Given the description of an element on the screen output the (x, y) to click on. 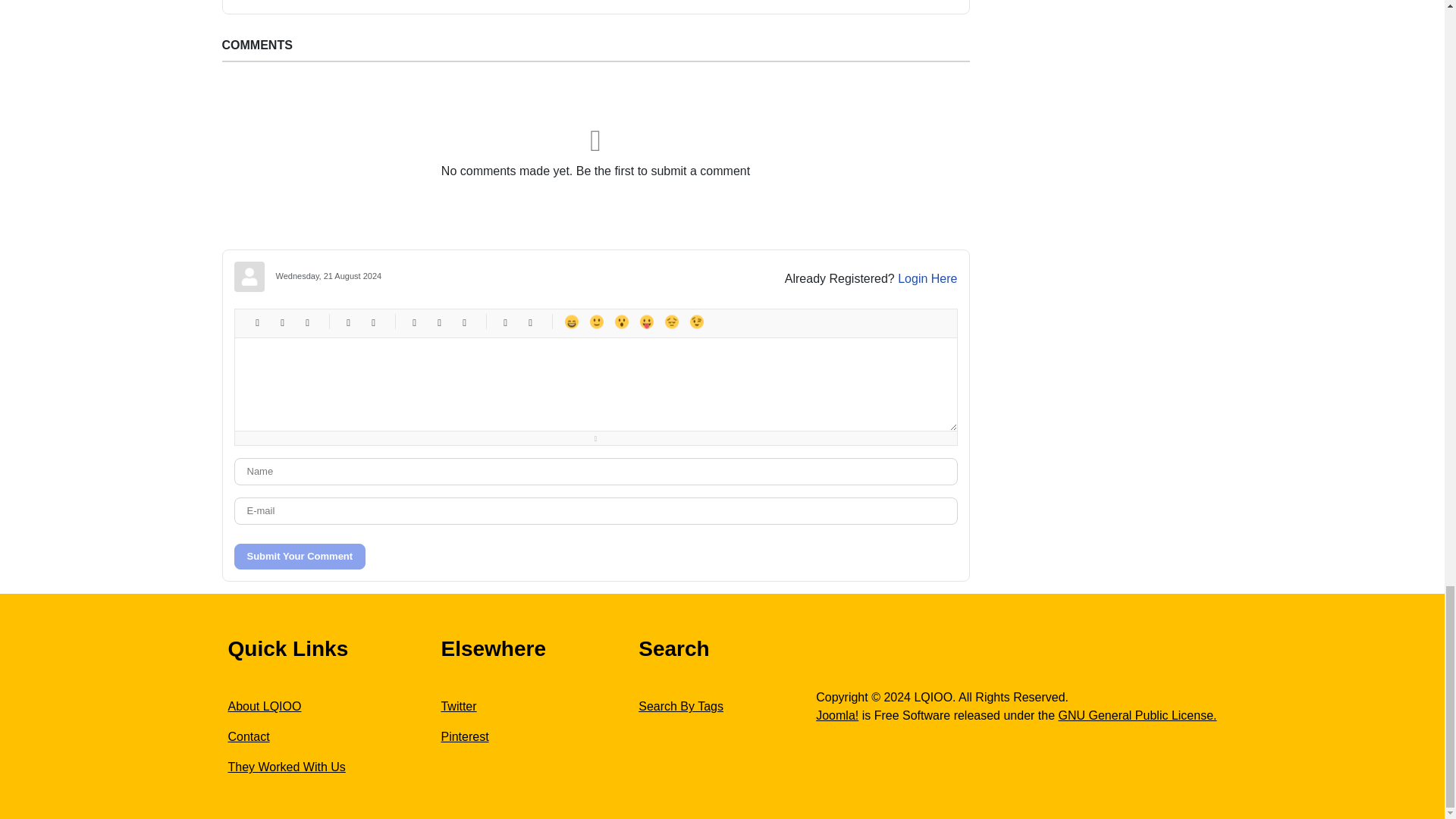
Numeric list (438, 321)
Bulleted list (414, 321)
Unhappy (670, 321)
Surprised (620, 321)
Quotes (505, 321)
Tongue (646, 321)
Clean (529, 321)
Happy (570, 321)
Smile (596, 321)
List item (464, 321)
